Given the description of an element on the screen output the (x, y) to click on. 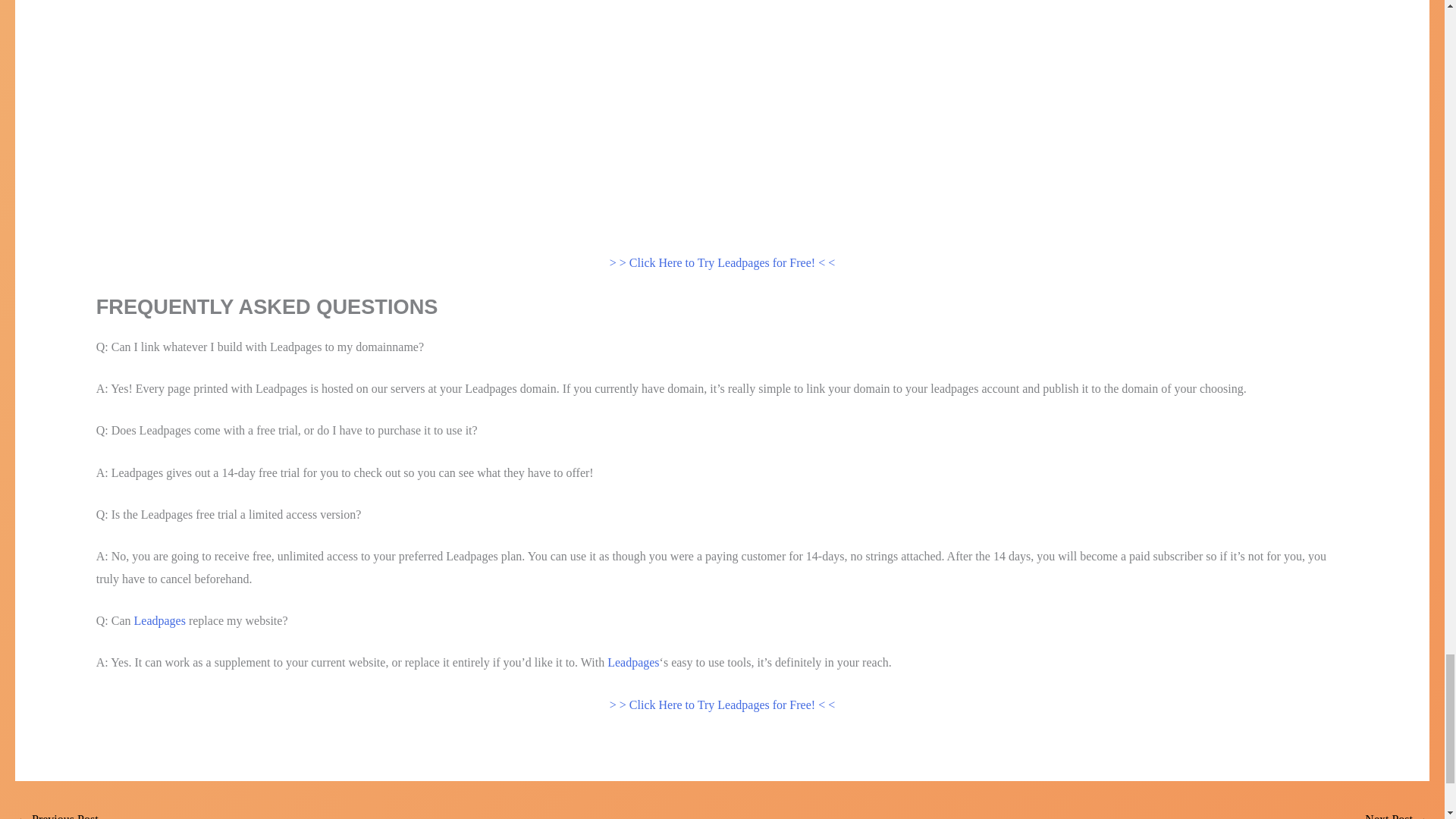
Leadpages (633, 662)
Using Mailchimp Custom Fields With Leadpages (1396, 812)
Leadpages (158, 620)
